Given the description of an element on the screen output the (x, y) to click on. 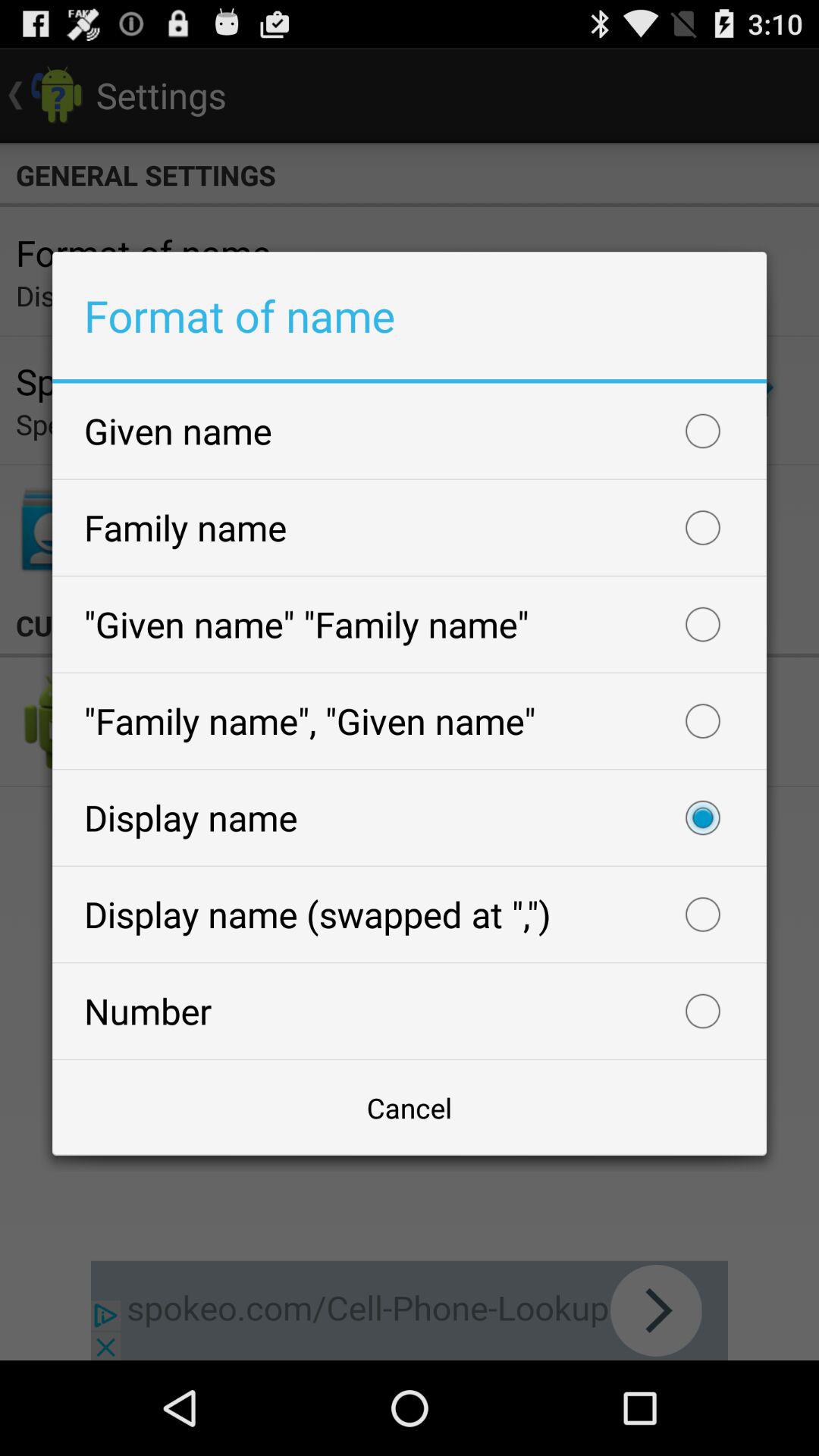
press checkbox below number item (409, 1107)
